Given the description of an element on the screen output the (x, y) to click on. 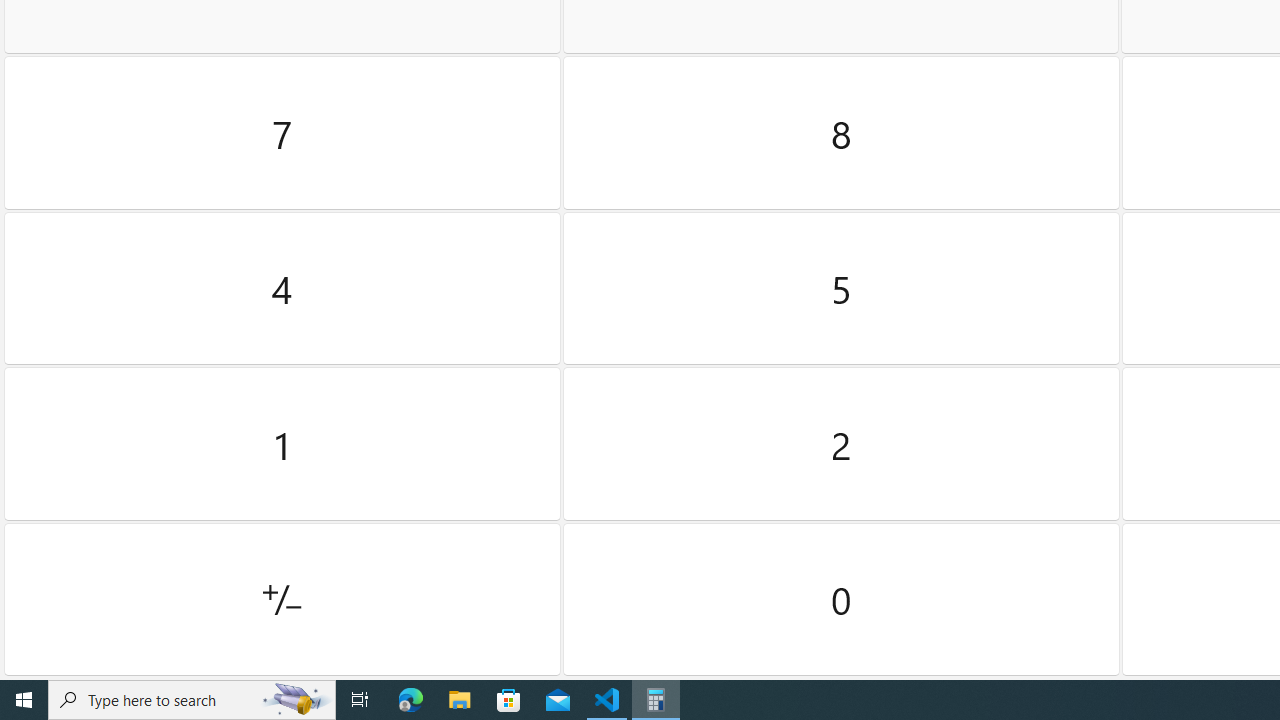
One (281, 444)
Positive negative (281, 599)
Five (841, 288)
Calculator - 1 running window (656, 699)
Zero (841, 599)
Two (841, 444)
Four (281, 288)
